Given the description of an element on the screen output the (x, y) to click on. 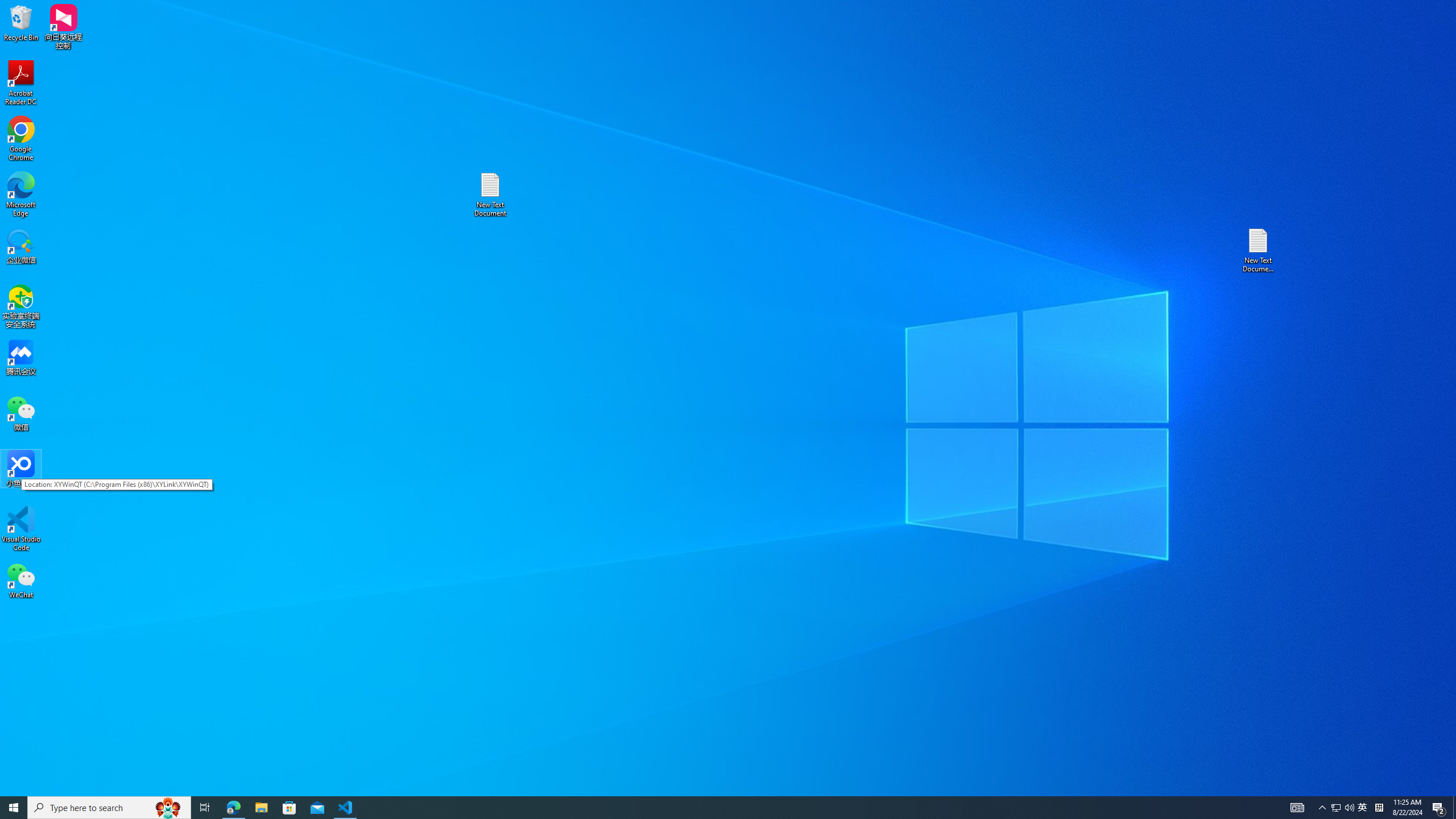
AutomationID: 4105 (1297, 807)
Notification Chevron (1322, 807)
Visual Studio Code - 1 running window (345, 807)
Action Center, 2 new notifications (1439, 807)
Search highlights icon opens search home window (167, 807)
Type here to search (108, 807)
Q2790: 100% (1335, 807)
User Promoted Notification Area (1349, 807)
Google Chrome (1342, 807)
